Given the description of an element on the screen output the (x, y) to click on. 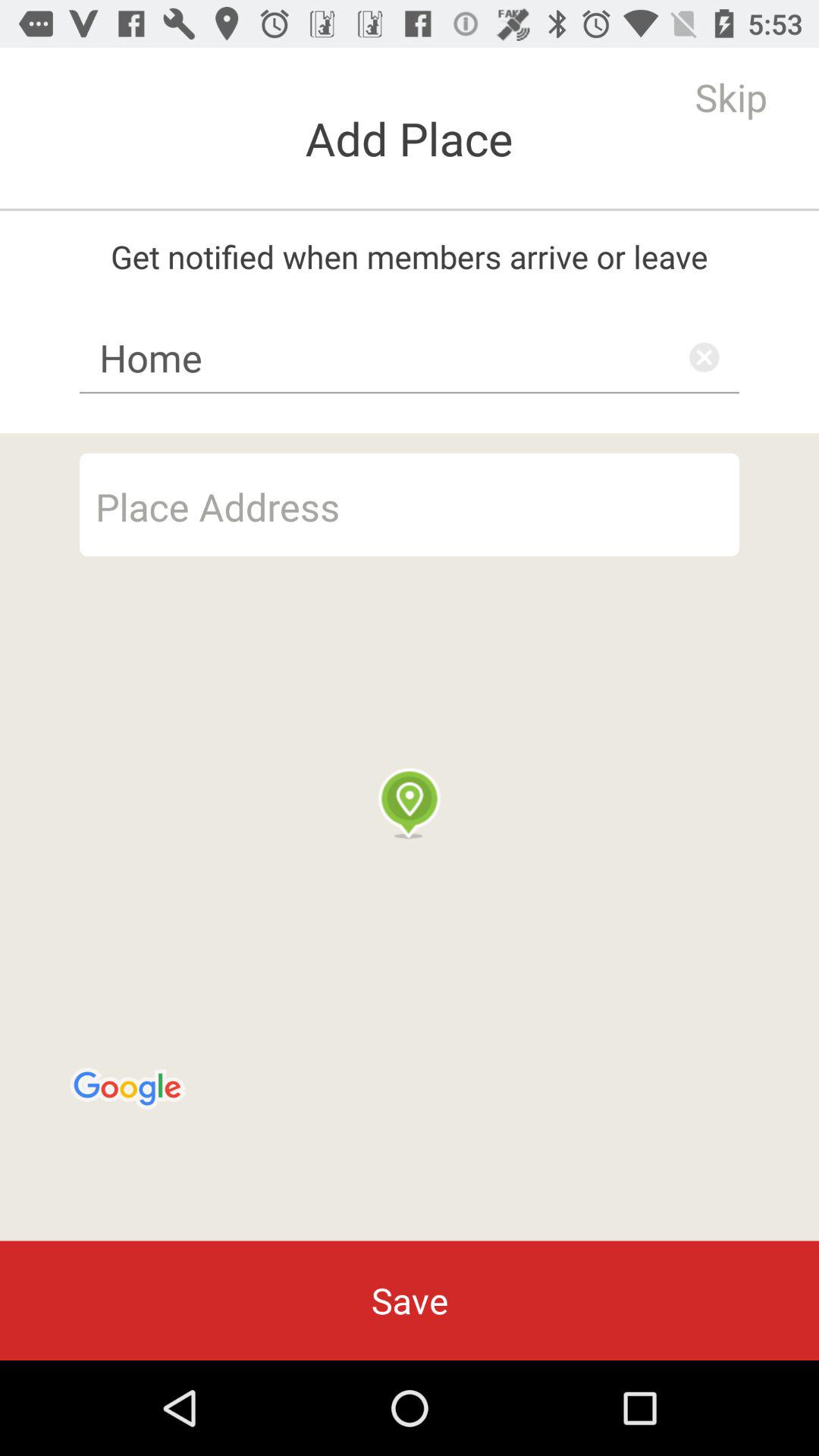
turn off the save item (409, 1300)
